Given the description of an element on the screen output the (x, y) to click on. 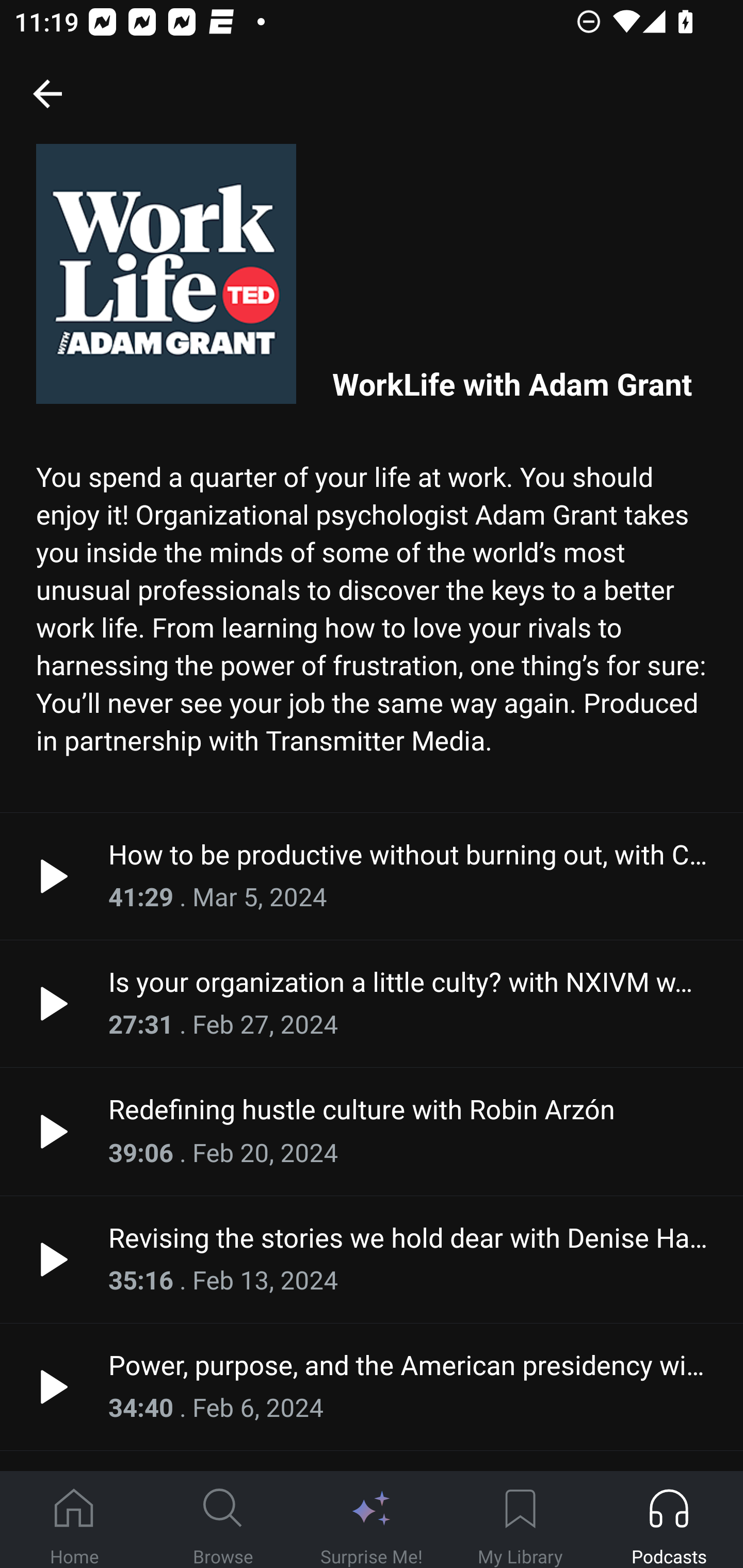
TED Podcasts, back (47, 92)
Home (74, 1520)
Browse (222, 1520)
Surprise Me! (371, 1520)
My Library (519, 1520)
Podcasts (668, 1520)
